Given the description of an element on the screen output the (x, y) to click on. 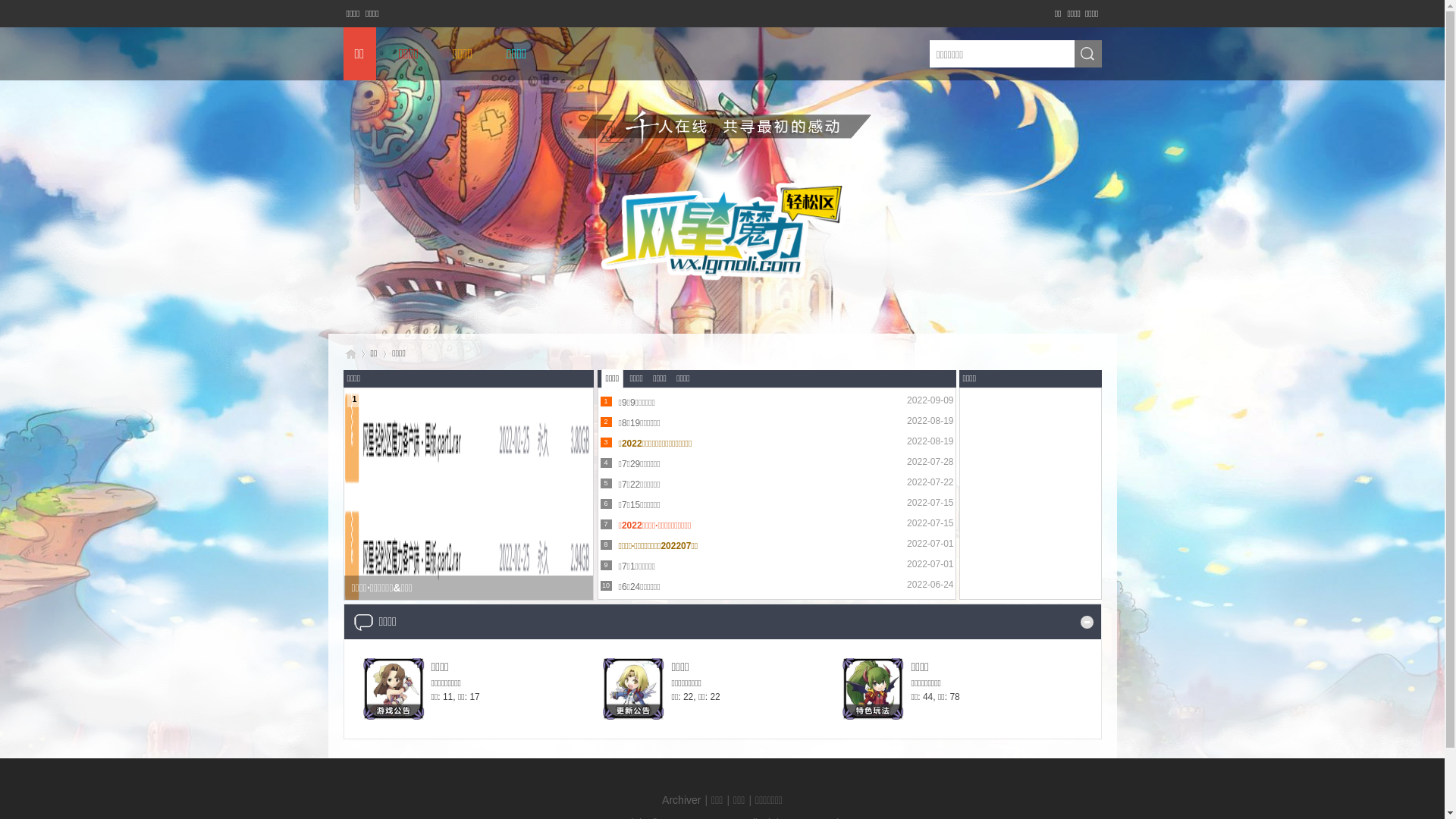
true Element type: text (1087, 54)
Archiver Element type: text (681, 799)
